Given the description of an element on the screen output the (x, y) to click on. 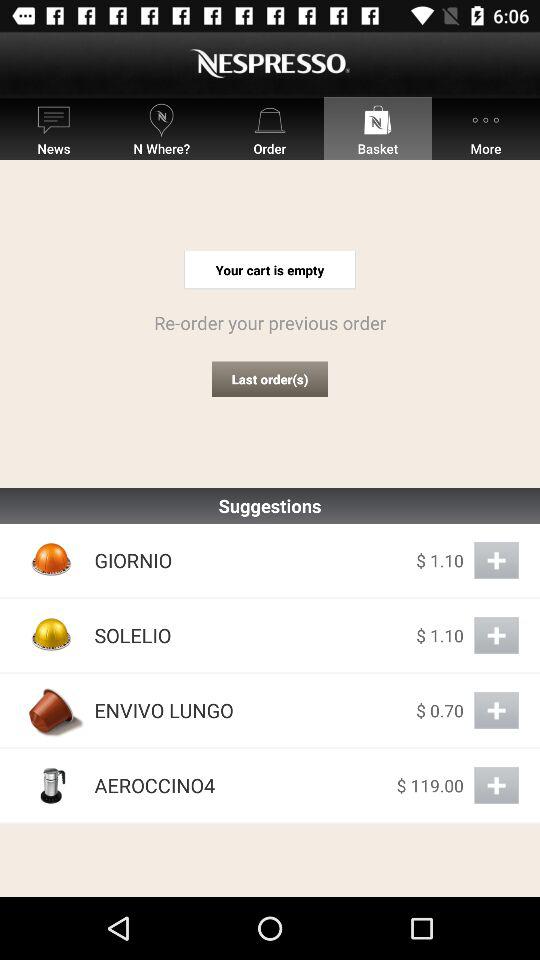
add product (496, 560)
